Given the description of an element on the screen output the (x, y) to click on. 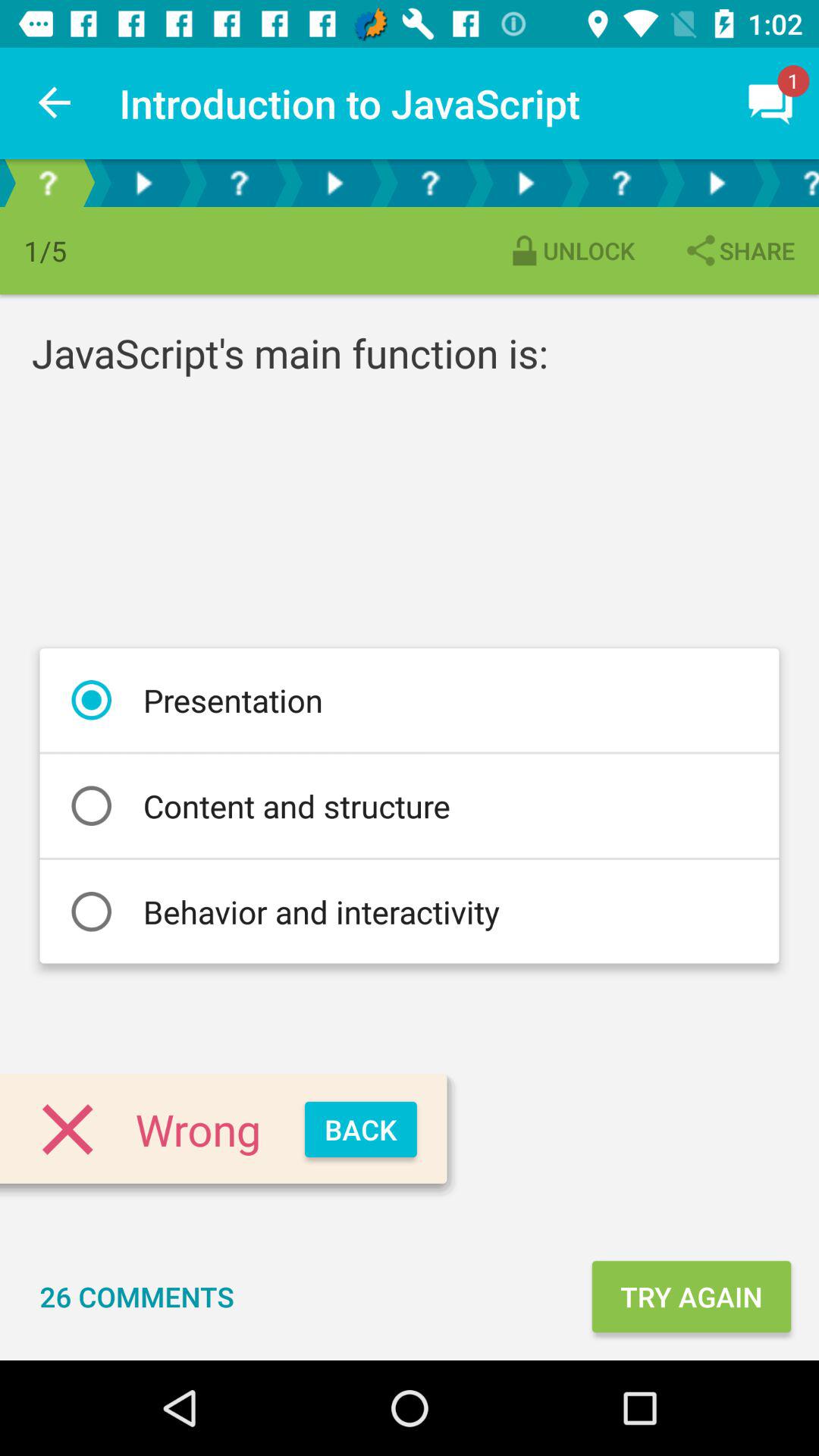
swipe to the back item (360, 1129)
